Given the description of an element on the screen output the (x, y) to click on. 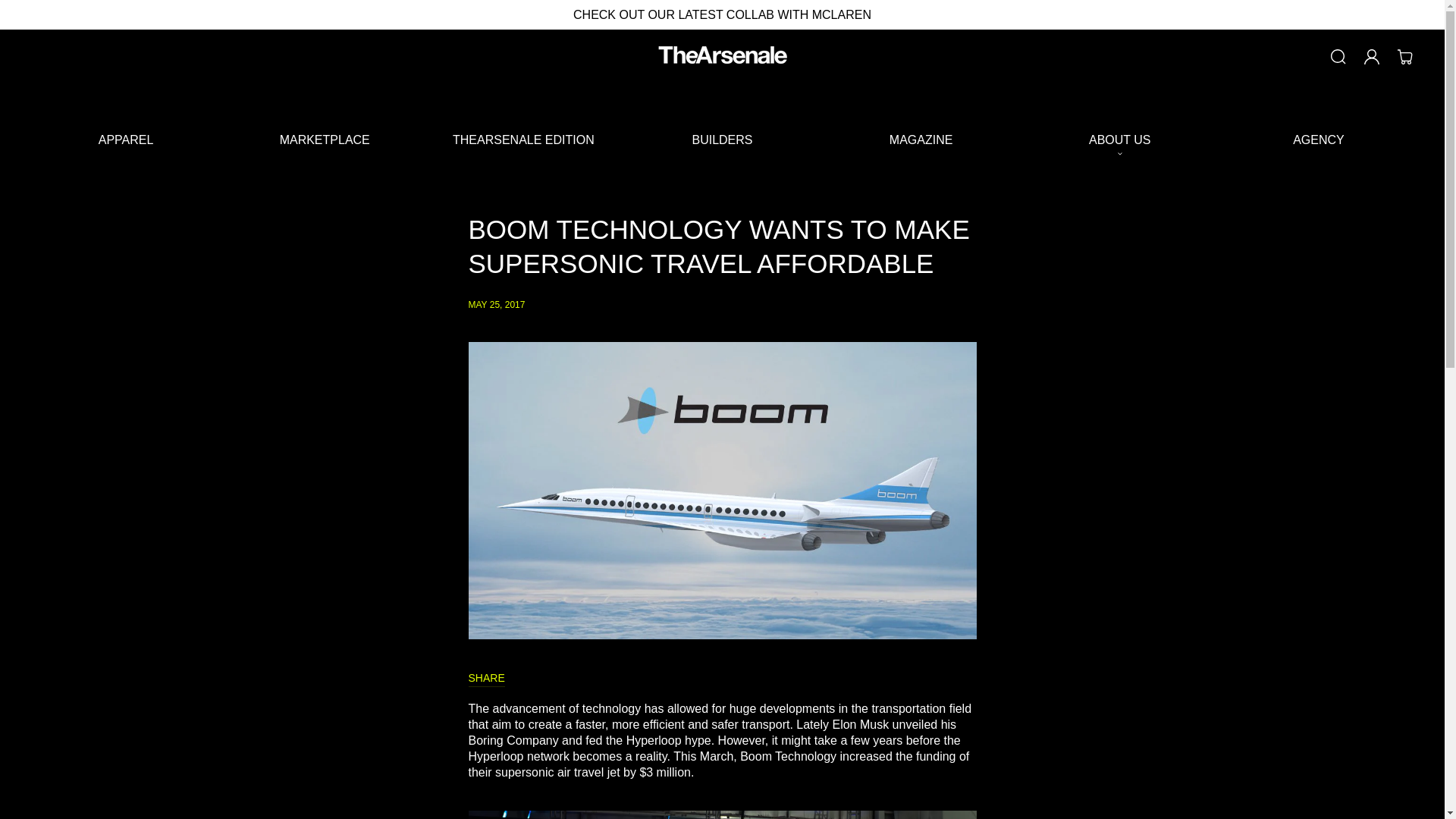
APPAREL (125, 139)
MARKETPLACE (324, 139)
CHECK OUT OUR LATEST COLLAB WITH MCLAREN (721, 14)
Log in (1372, 55)
Cart (1405, 55)
THEARSENALE EDITION (523, 139)
SKIP TO CONTENT (29, 18)
